Given the description of an element on the screen output the (x, y) to click on. 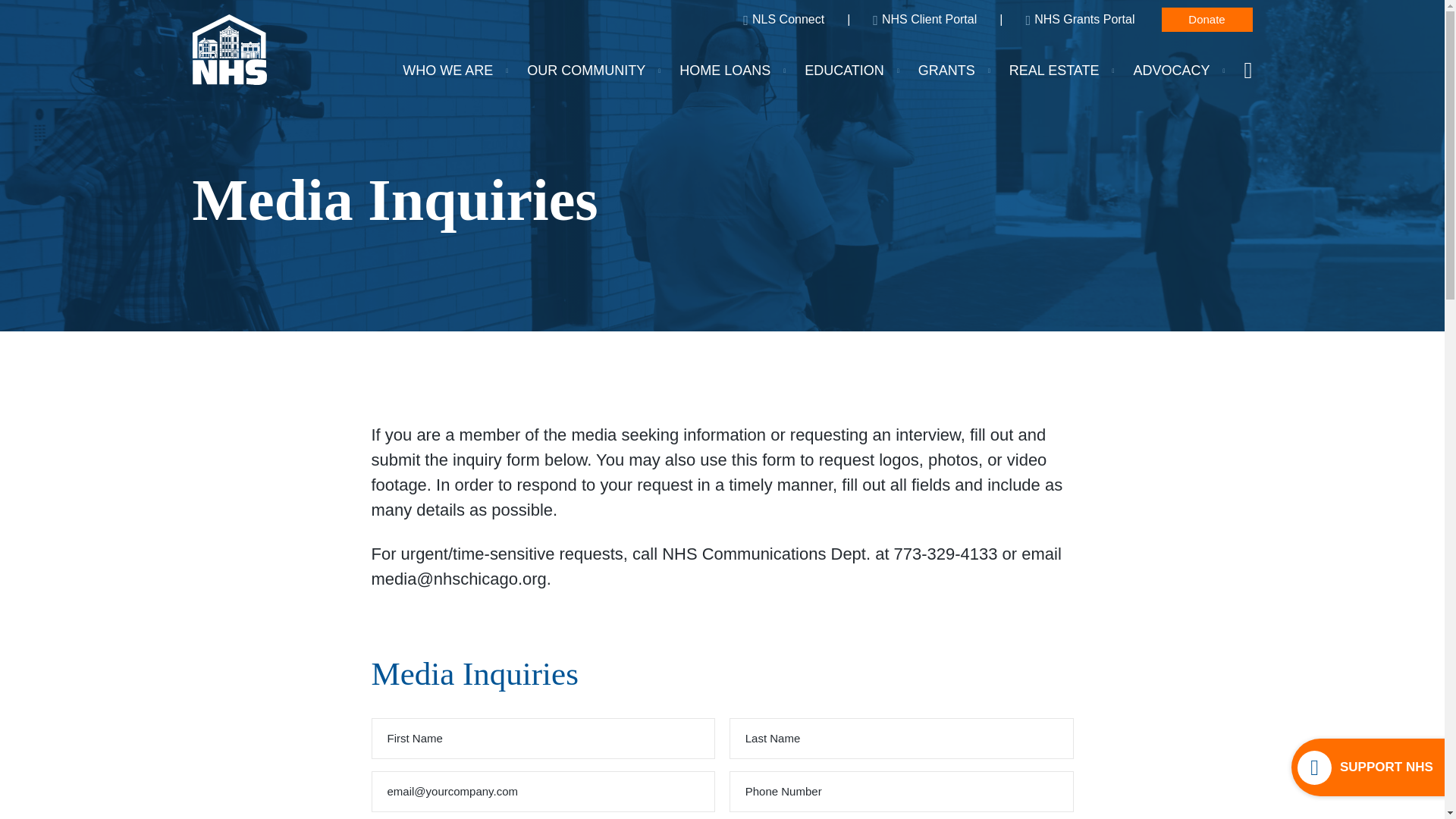
NLS Connect (783, 19)
NHS Grants Portal (1079, 19)
HOME LOANS (726, 70)
NHS Client Portal (924, 19)
Donate (1206, 19)
WHO WE ARE (449, 70)
OUR COMMUNITY (587, 70)
